Given the description of an element on the screen output the (x, y) to click on. 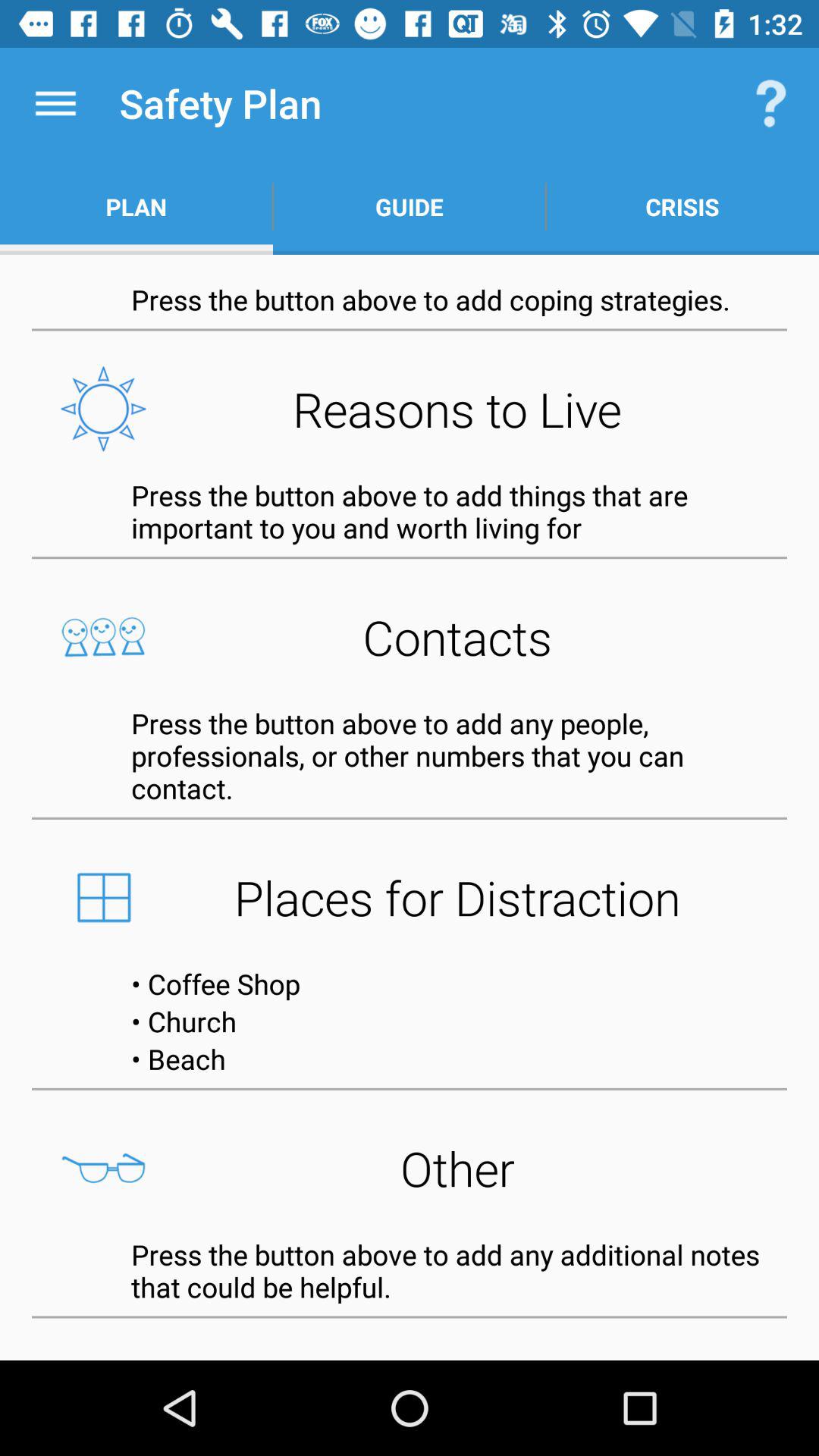
press the icon above the press the button (409, 206)
